Given the description of an element on the screen output the (x, y) to click on. 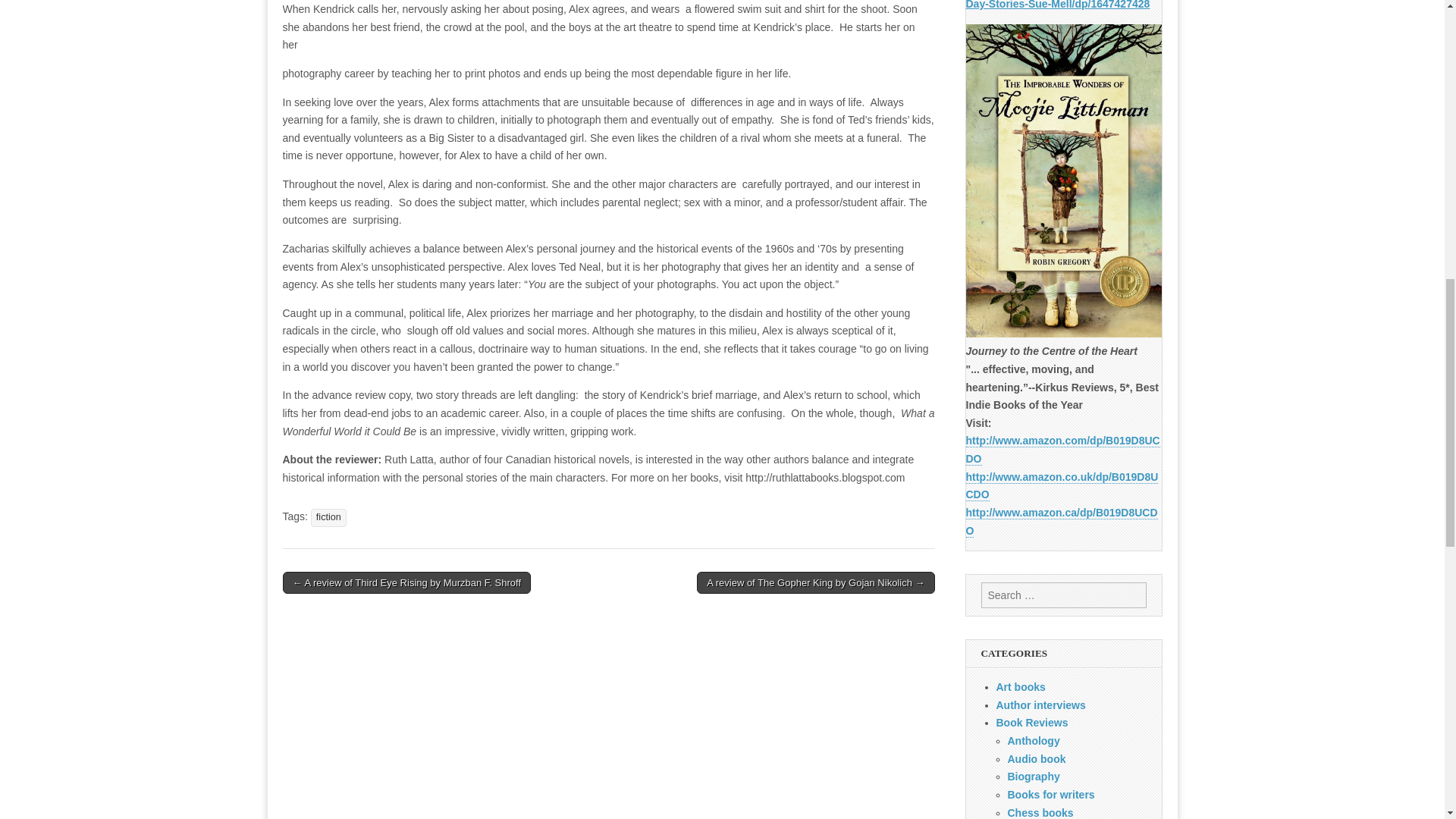
Books for writers (1050, 794)
Art books (1020, 686)
Audio book (1036, 758)
Chess books (1040, 812)
Biography (1033, 776)
Book Reviews (1031, 722)
Anthology (1033, 740)
fiction (328, 517)
Author interviews (1040, 705)
